Given the description of an element on the screen output the (x, y) to click on. 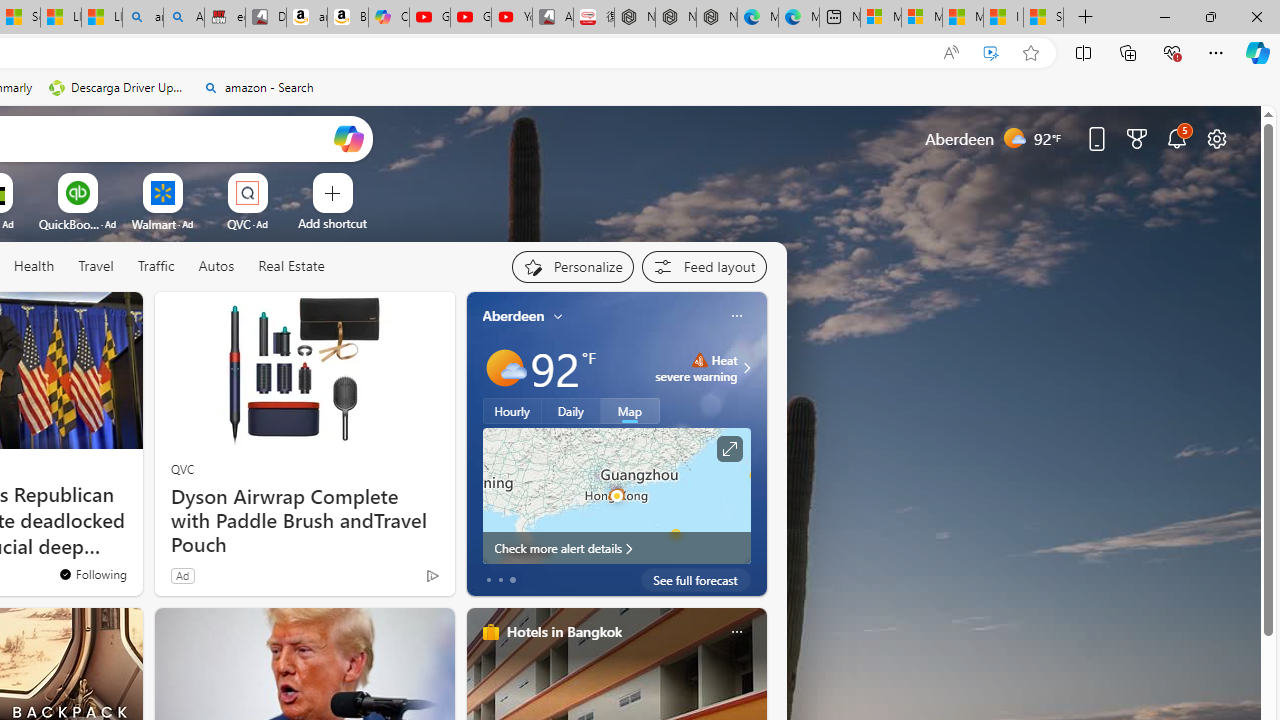
You're following FOX News (92, 573)
All Cubot phones (552, 17)
See full forecast (695, 579)
Add a site (332, 223)
Aberdeen (513, 315)
Real Estate (291, 265)
QVC (182, 468)
Microsoft Start (963, 17)
Amazon Echo Dot PNG - Search Images (183, 17)
Health (33, 267)
Settings and more (Alt+F) (1215, 52)
Nordace - Nordace has arrived Hong Kong (717, 17)
Add this page to favorites (Ctrl+D) (1030, 53)
Hourly (511, 411)
